Given the description of an element on the screen output the (x, y) to click on. 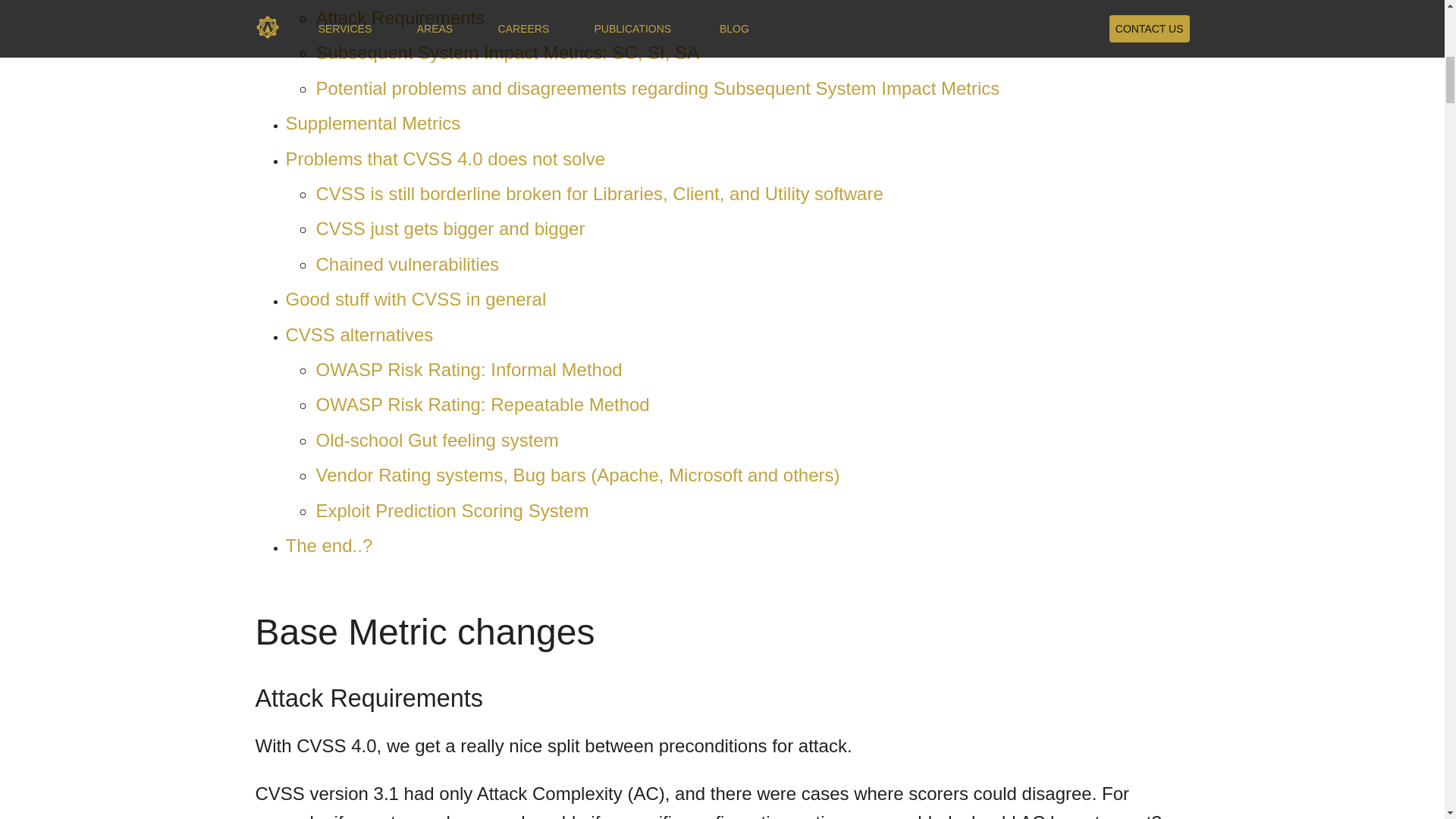
Old-school Gut feeling system (436, 439)
OWASP Risk Rating: Repeatable Method (482, 403)
Good stuff with CVSS in general (415, 299)
Chained vulnerabilities (406, 263)
Subsequent System Impact Metrics: SC, SI, SA (506, 52)
Supplemental Metrics (372, 123)
Exploit Prediction Scoring System (451, 510)
The end..? (328, 545)
